Given the description of an element on the screen output the (x, y) to click on. 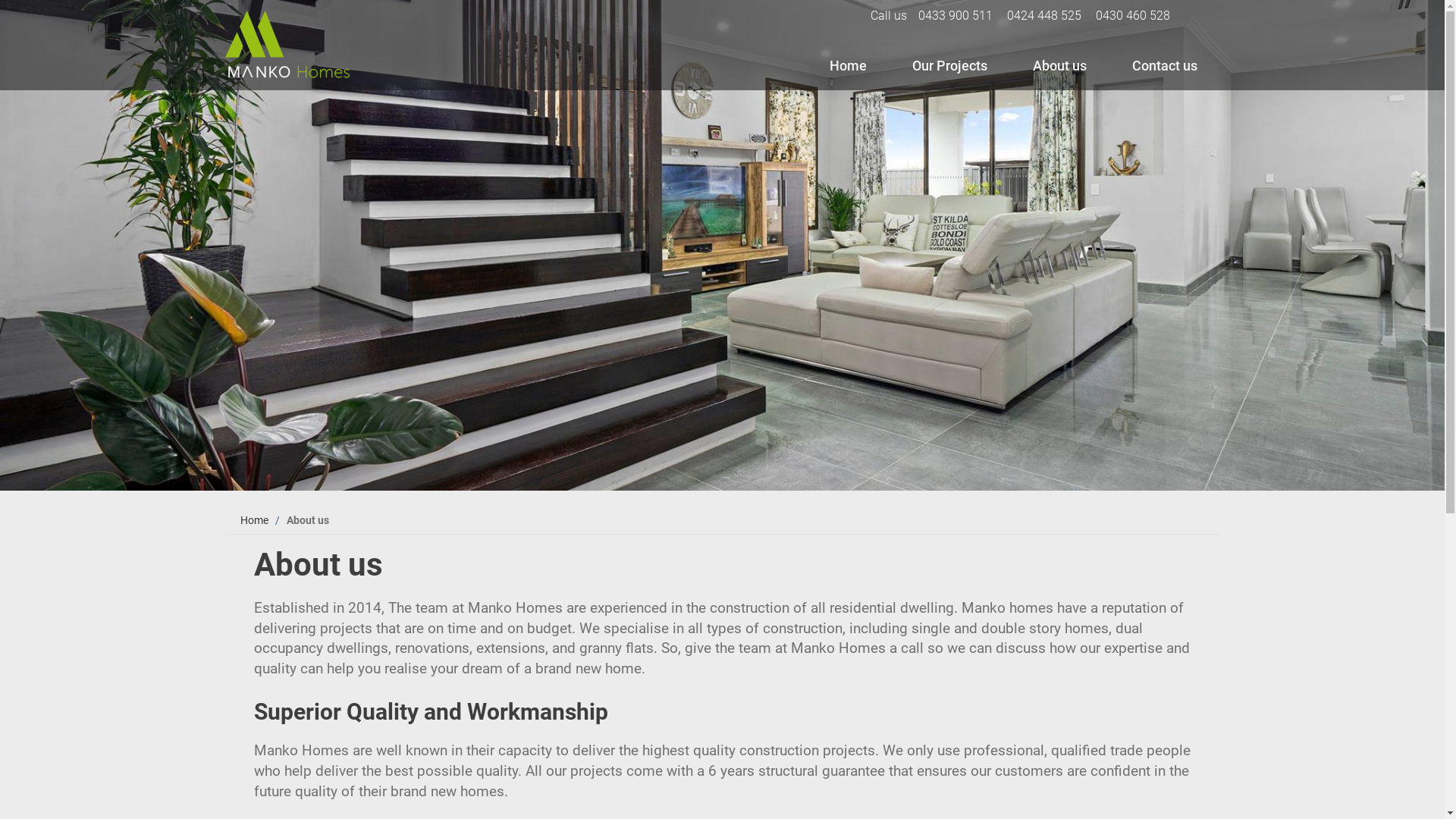
0430 460 528 Element type: text (1132, 15)
Home Element type: text (848, 65)
Contact us Element type: text (1163, 65)
0424 448 525 Element type: text (1044, 15)
About us Element type: text (1059, 65)
0433 900 511 Element type: text (955, 15)
Home Element type: text (254, 520)
Our Projects Element type: text (948, 65)
header logo link Element type: hover (322, 46)
